Given the description of an element on the screen output the (x, y) to click on. 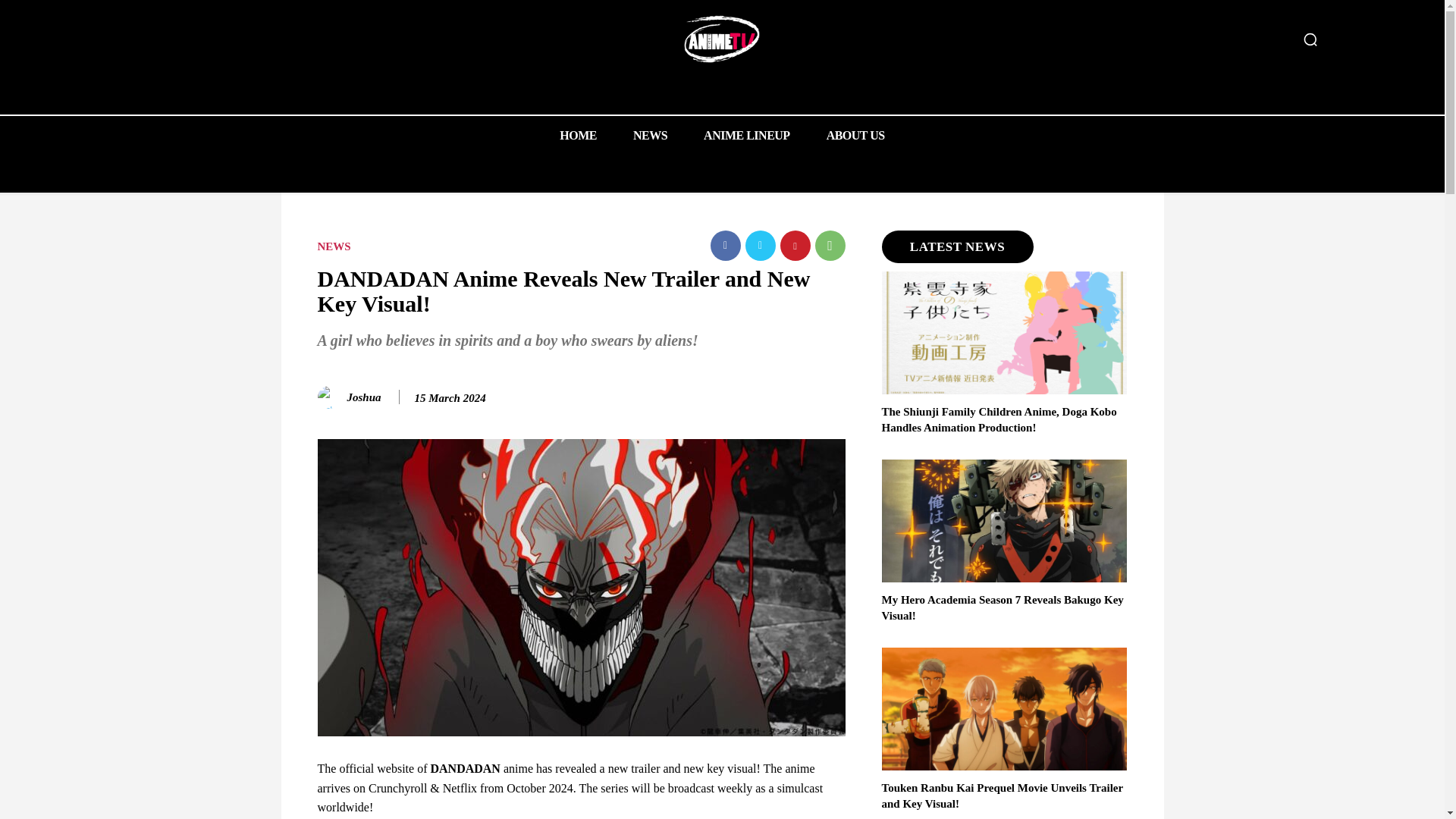
Joshua (364, 397)
My Hero Academia Season 7 Reveals Bakugo Key Visual! (1001, 607)
ABOUT US (855, 135)
Pinterest (793, 245)
ANIME LINEUP (746, 135)
My Hero Academia Season 7 Reveals Bakugo Key Visual! (1003, 520)
NEWS (333, 246)
WhatsApp (828, 245)
Joshua (330, 396)
Twitter (759, 245)
NEWS (649, 135)
